Given the description of an element on the screen output the (x, y) to click on. 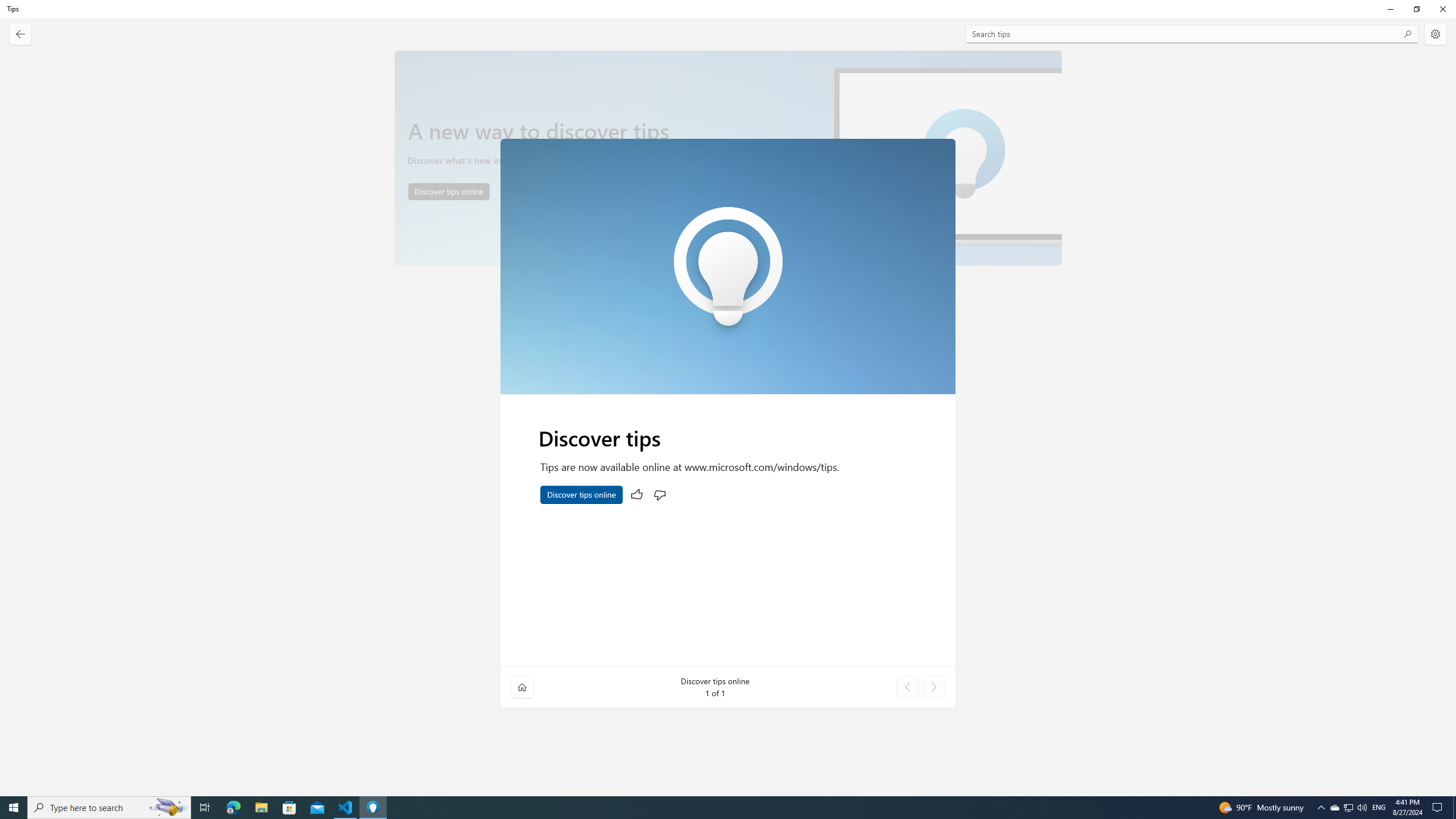
Restore Tips (1416, 9)
Tips - 1 running window (373, 807)
Minimize Tips (1390, 9)
Search tips (1191, 34)
Discover tips. Viewed. (727, 401)
Close Tips (1442, 9)
Settings (1435, 33)
Running applications (706, 807)
